Given the description of an element on the screen output the (x, y) to click on. 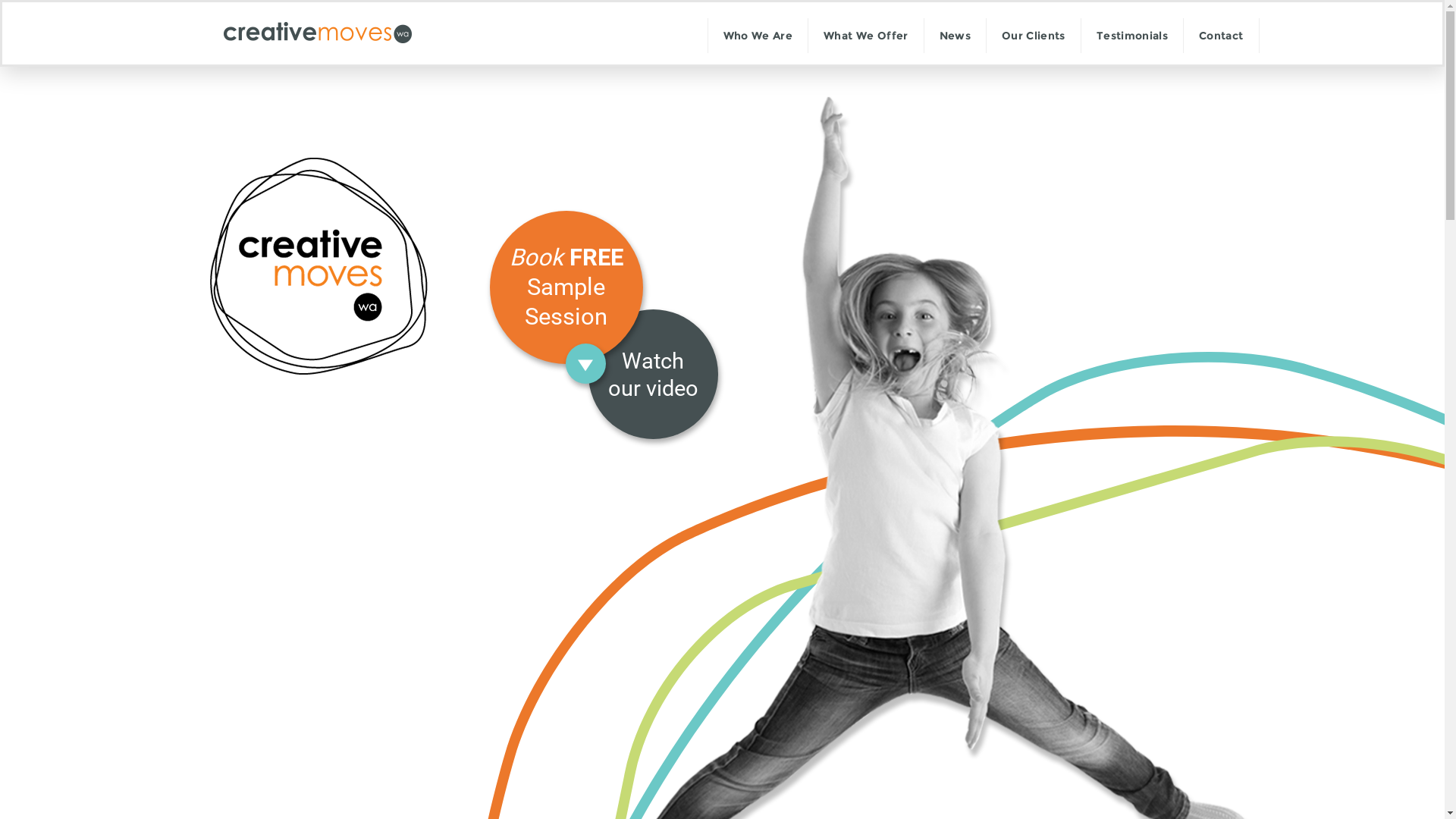
Contact Element type: text (1220, 35)
Testimonials Element type: text (1132, 35)
Book FREE Sample Session Element type: text (566, 287)
What We Offer Element type: text (865, 35)
Our Clients Element type: text (1033, 35)
Who We Are Element type: text (758, 35)
News Element type: text (954, 35)
Watch our video Element type: text (653, 374)
